Given the description of an element on the screen output the (x, y) to click on. 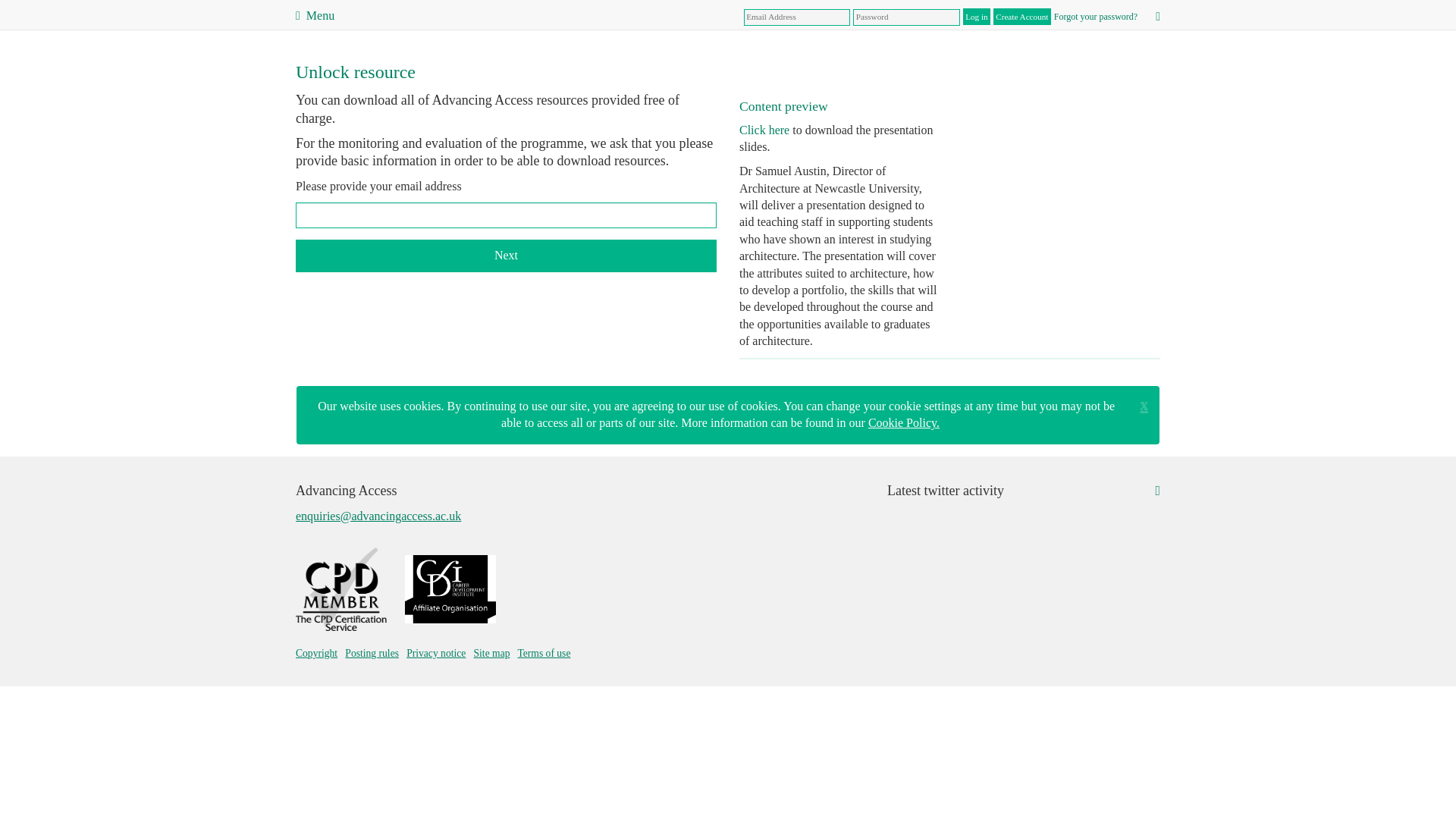
Next (505, 255)
Forgot your password? (1095, 16)
Menu (314, 15)
CDI (450, 589)
Cookie Policy. (903, 422)
Log in (976, 16)
Log in (976, 16)
Create Account (1021, 16)
Click here (764, 129)
Next (505, 255)
